Given the description of an element on the screen output the (x, y) to click on. 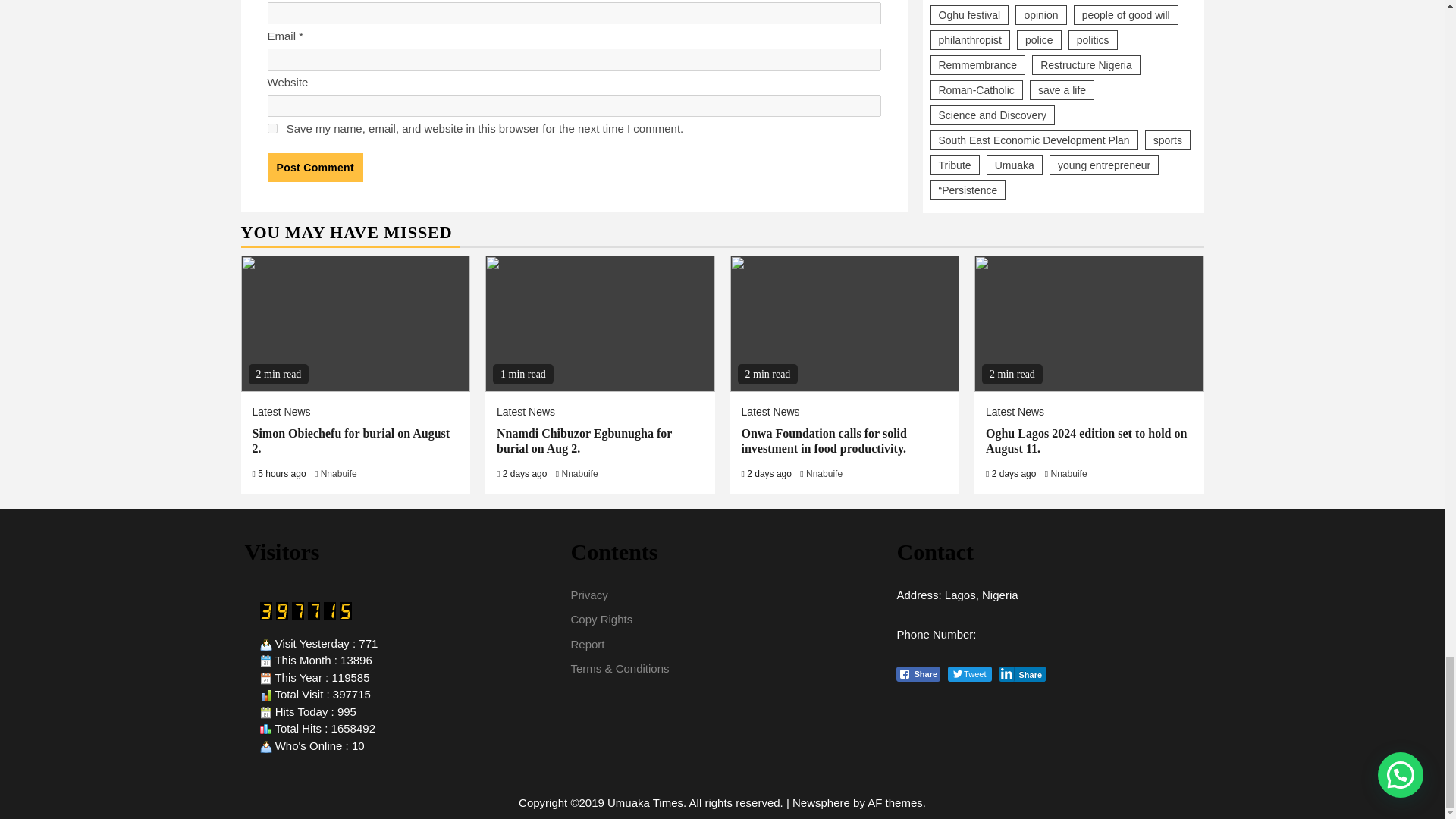
Post Comment (314, 167)
yes (271, 128)
